Given the description of an element on the screen output the (x, y) to click on. 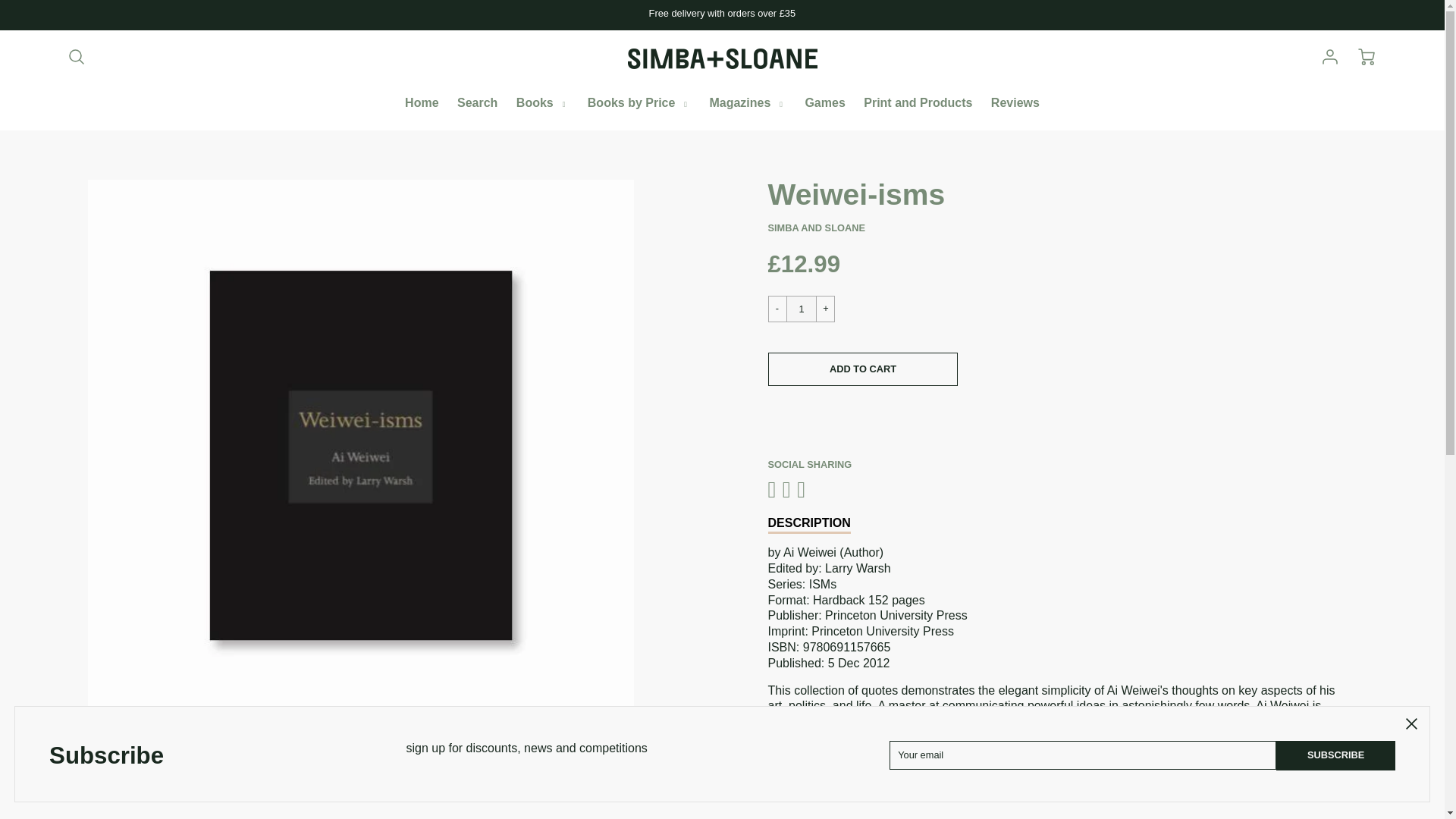
1 (801, 308)
Home (421, 103)
simba and sloane (815, 227)
Books by Price (638, 103)
Search (477, 103)
Books (542, 103)
